Given the description of an element on the screen output the (x, y) to click on. 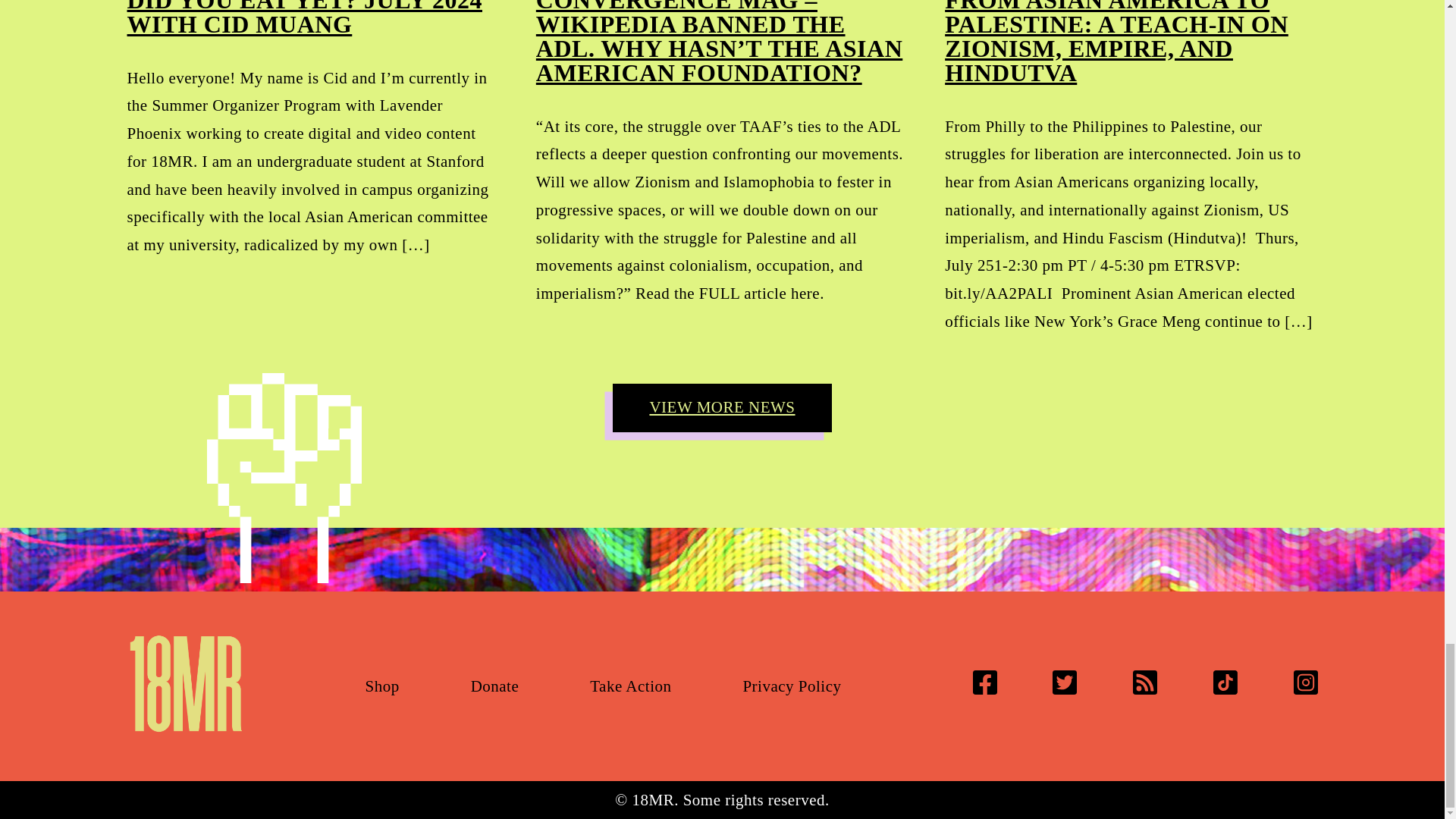
Privacy Policy (791, 685)
Shop (381, 685)
Donate (494, 685)
DID YOU EAT YET? JULY 2024 WITH CID MUANG (304, 18)
Take Action (630, 685)
VIEW MORE NEWS (721, 408)
